Given the description of an element on the screen output the (x, y) to click on. 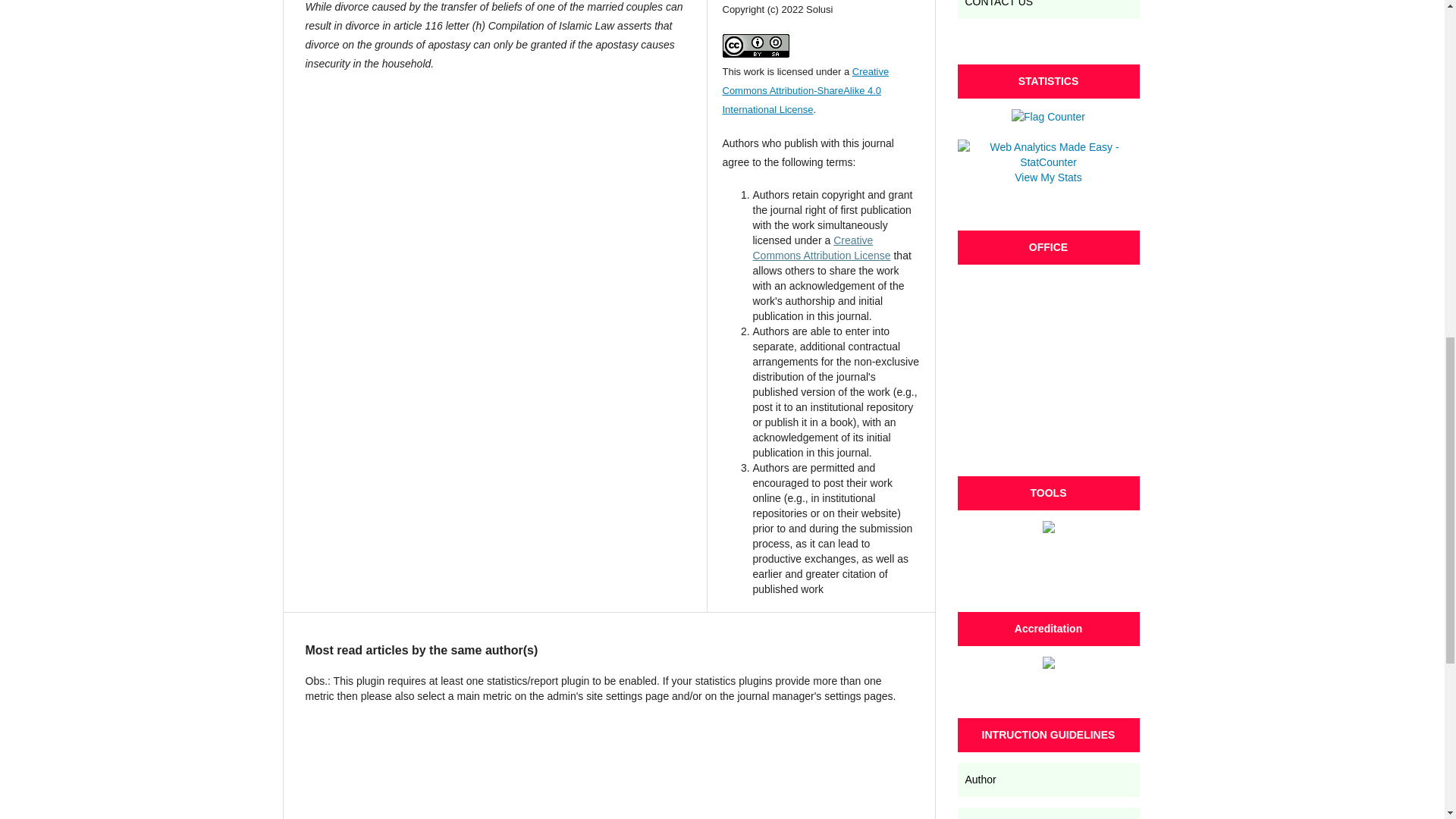
Web Analytics Made Easy - StatCounter (1047, 162)
CONTACT US (1047, 9)
Creative Commons Attribution License (820, 247)
